Given the description of an element on the screen output the (x, y) to click on. 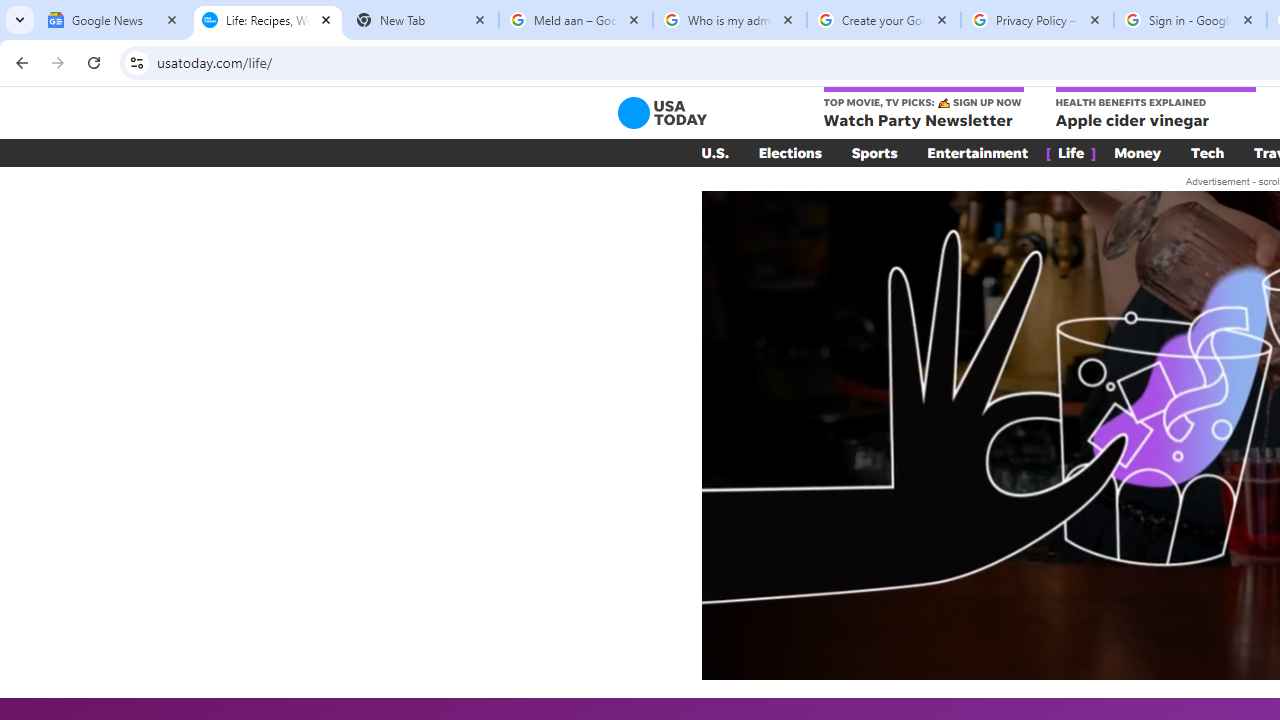
Who is my administrator? - Google Account Help (729, 20)
Entertainment (977, 152)
Tech (1207, 152)
Google News (113, 20)
Sign in - Google Accounts (1190, 20)
HEALTH BENEFITS EXPLAINED Apple cider vinegar (1154, 109)
Create your Google Account (883, 20)
Sports (873, 152)
USA TODAY (661, 112)
U.S. (714, 152)
